Given the description of an element on the screen output the (x, y) to click on. 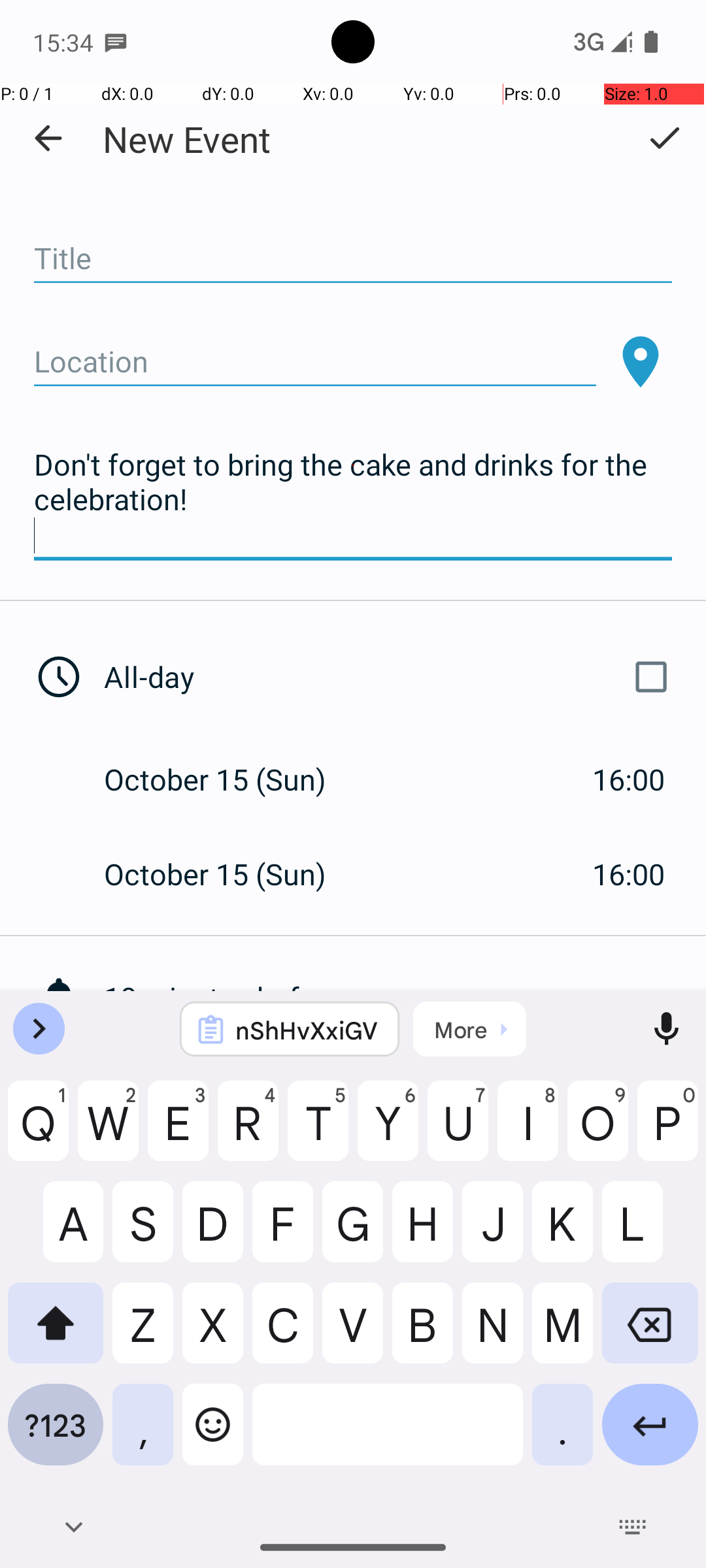
Don't forget to bring the cake and drinks for the celebration!
 Element type: android.widget.EditText (352, 499)
10 minutes before Element type: android.widget.TextView (404, 996)
nShHvXxiGV Element type: android.widget.TextView (306, 1029)
